Given the description of an element on the screen output the (x, y) to click on. 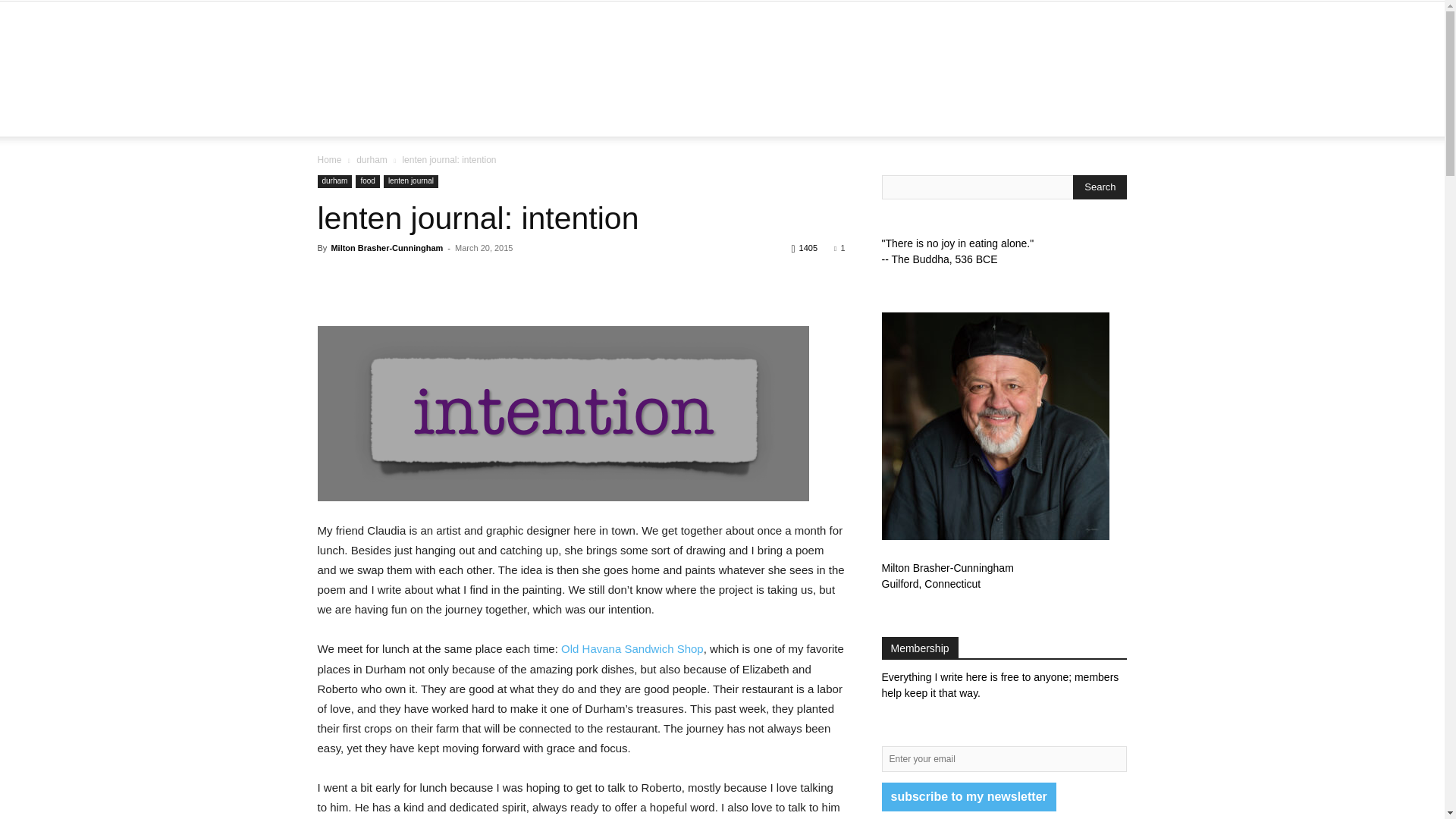
View all posts in durham (371, 159)
Search (1134, 178)
food (366, 181)
1 (839, 247)
durham (334, 181)
RECIPES (861, 117)
Milton Brasher-Cunningham (386, 247)
LENTEN JOURNAL (694, 117)
HOME (424, 117)
ADVENT JOURNAL (574, 117)
SERMONS (790, 117)
Search (1099, 187)
lenten journal (411, 181)
CONTACT (1009, 117)
Home (328, 159)
